Given the description of an element on the screen output the (x, y) to click on. 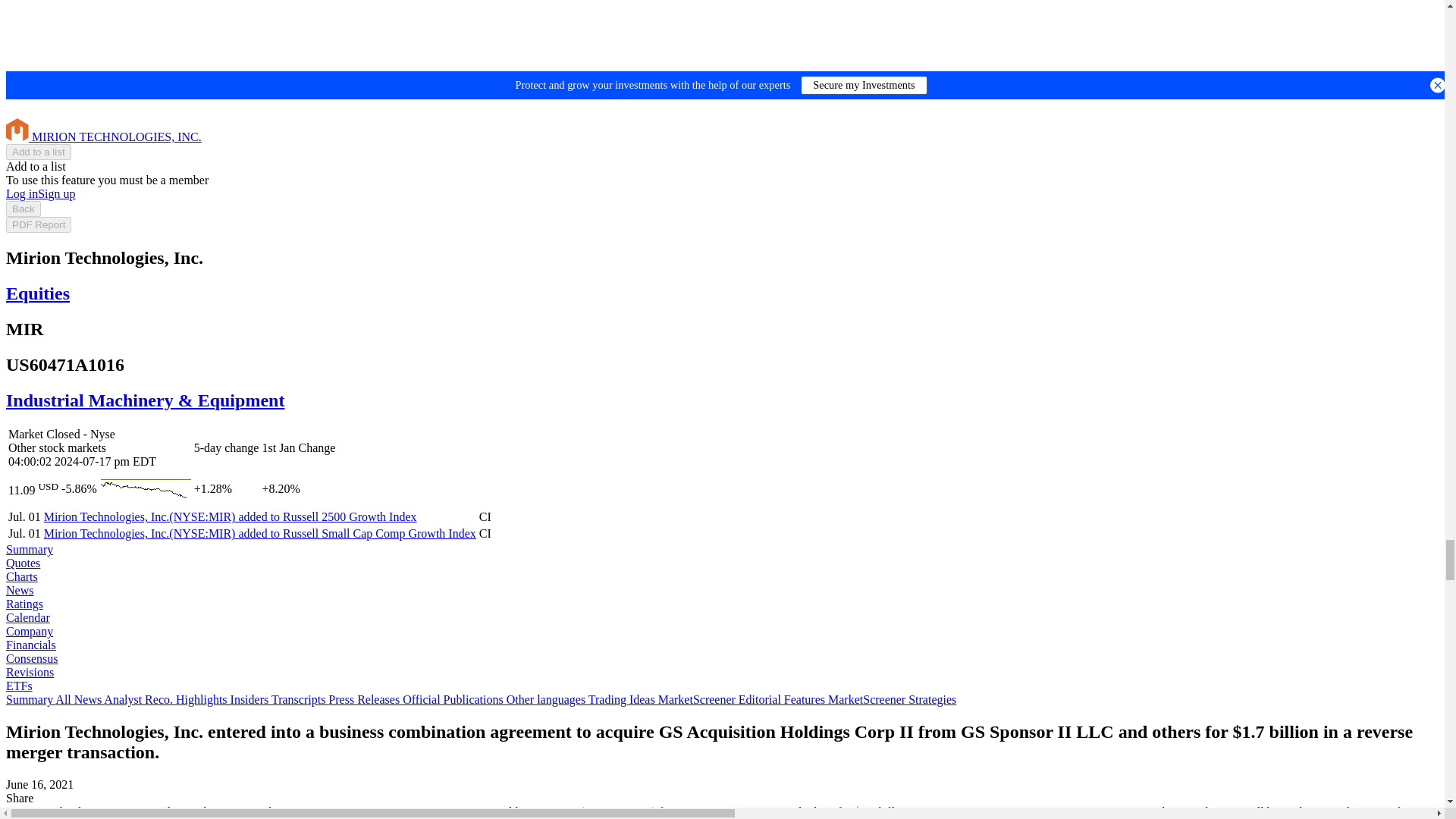
Other stock markets (721, 186)
